Given the description of an element on the screen output the (x, y) to click on. 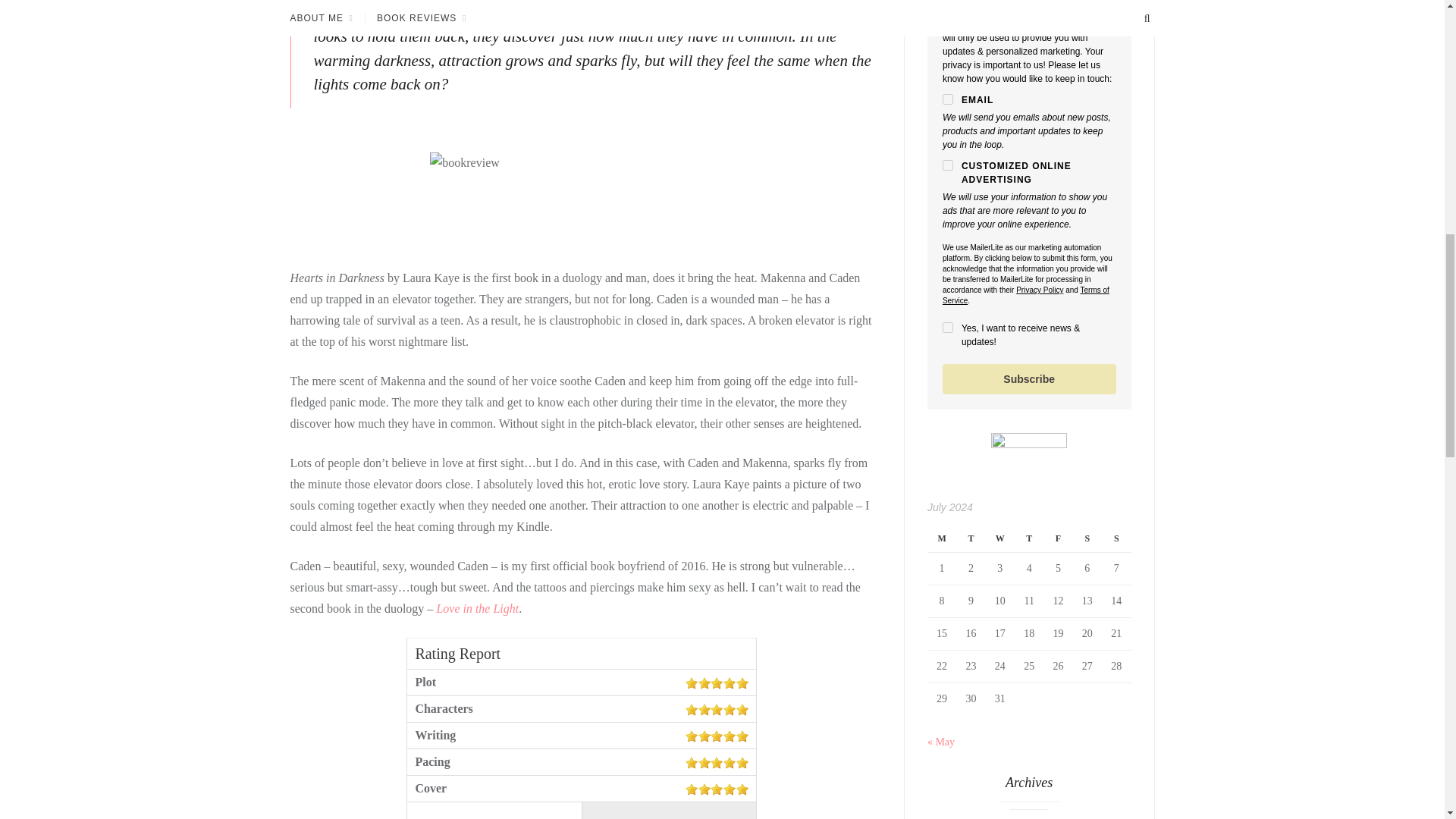
Tuesday (970, 538)
Wednesday (999, 538)
Saturday (1087, 538)
Love in the Light (476, 608)
Customized online advertising (947, 164)
Thursday (1028, 538)
Monday (941, 538)
Email (947, 99)
Friday (1057, 538)
on (947, 327)
